Given the description of an element on the screen output the (x, y) to click on. 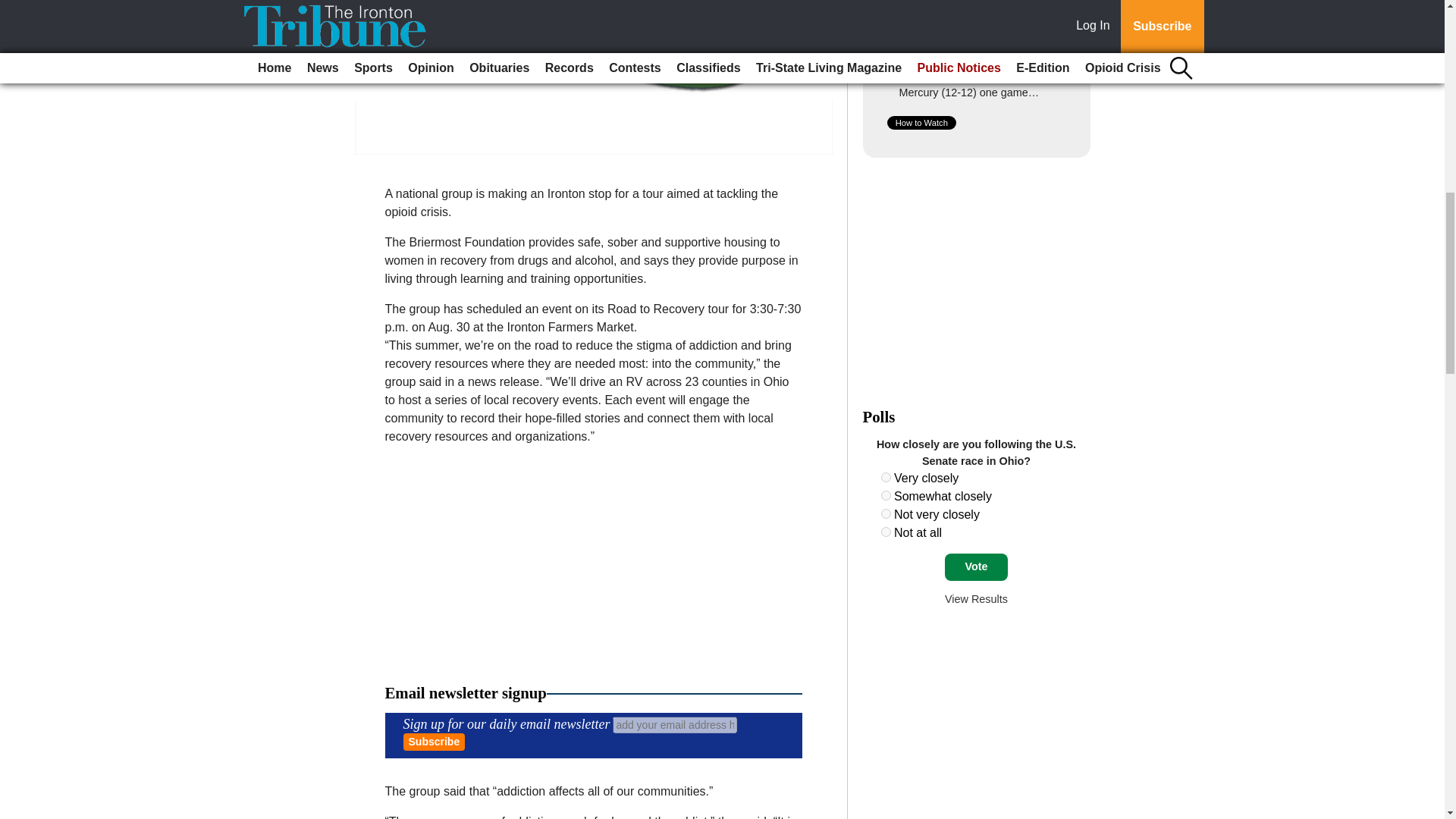
1433 (885, 495)
View Results (975, 598)
   Vote    (975, 566)
How to Watch (921, 122)
Subscribe (434, 742)
1435 (885, 532)
1432 (885, 477)
1434 (885, 513)
Subscribe (434, 742)
View Results Of This Poll (975, 598)
